Given the description of an element on the screen output the (x, y) to click on. 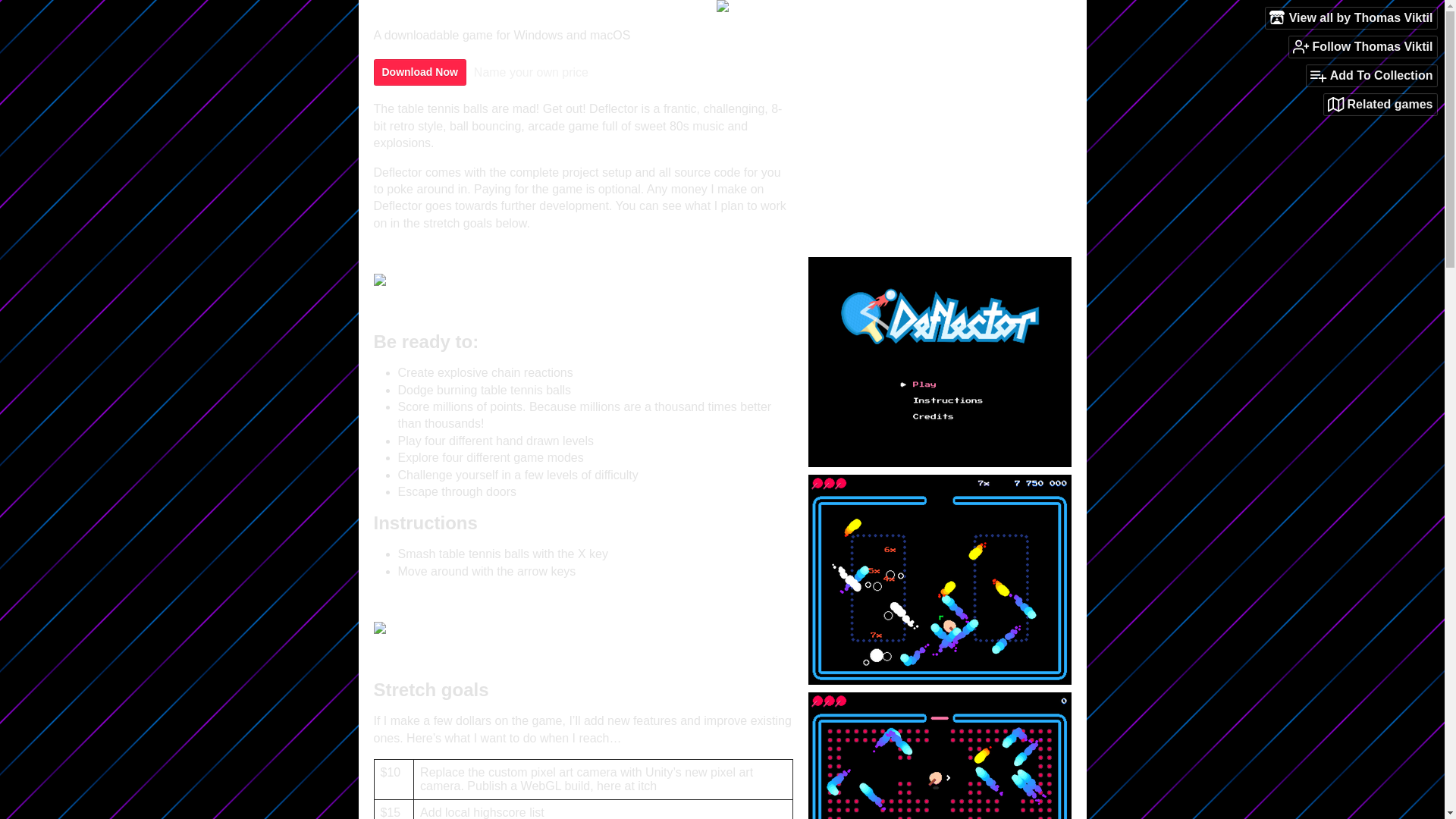
Follow Thomas Viktil (1362, 46)
Related games (1380, 104)
Download Now (418, 71)
Add To Collection (1371, 75)
View all by Thomas Viktil (1351, 17)
